Given the description of an element on the screen output the (x, y) to click on. 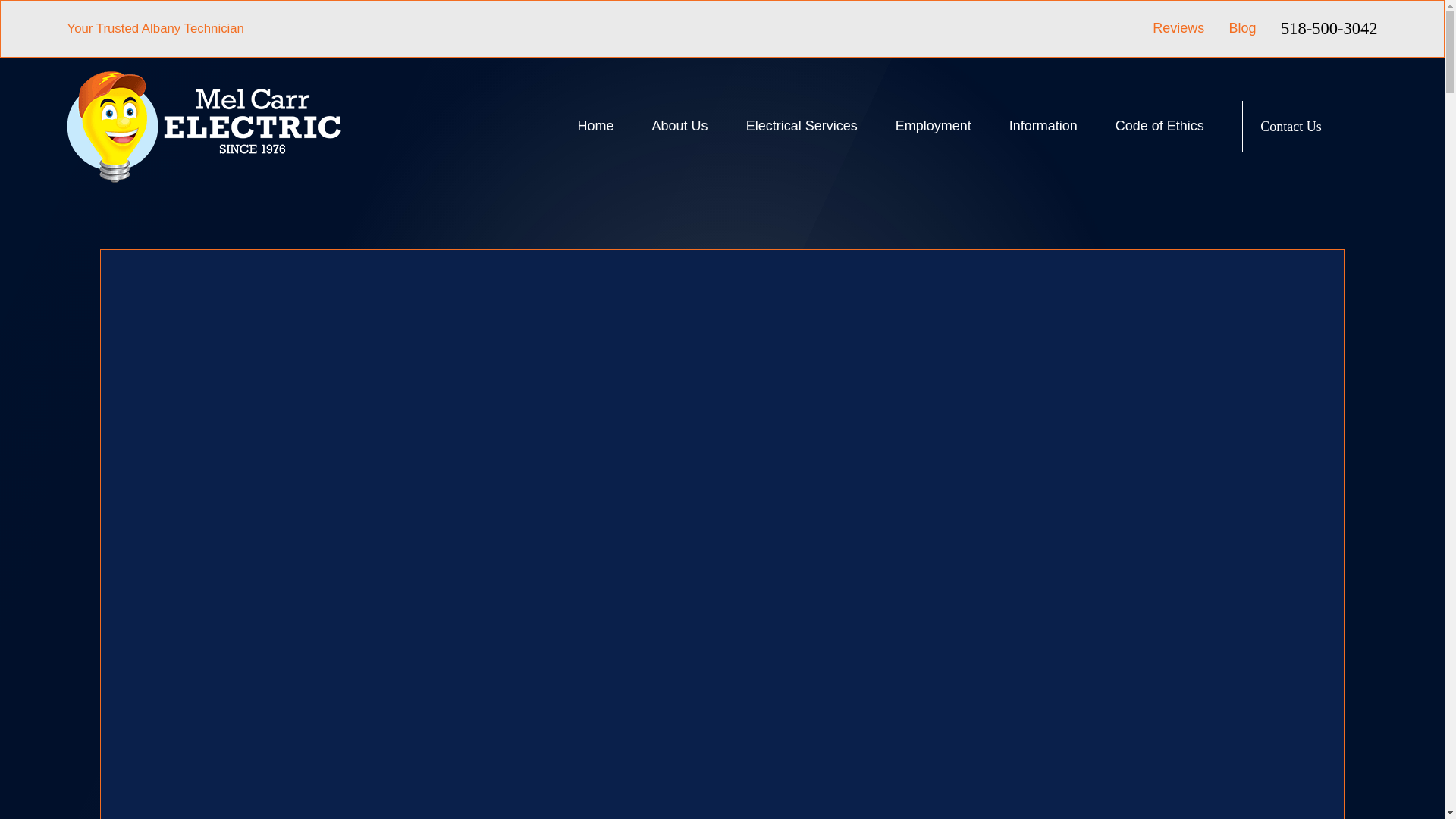
Blog (1242, 28)
Employment (933, 126)
Home (203, 126)
Reviews (1178, 28)
518-500-3042 (1329, 28)
About Us (679, 126)
Electrical Services (801, 126)
